Given the description of an element on the screen output the (x, y) to click on. 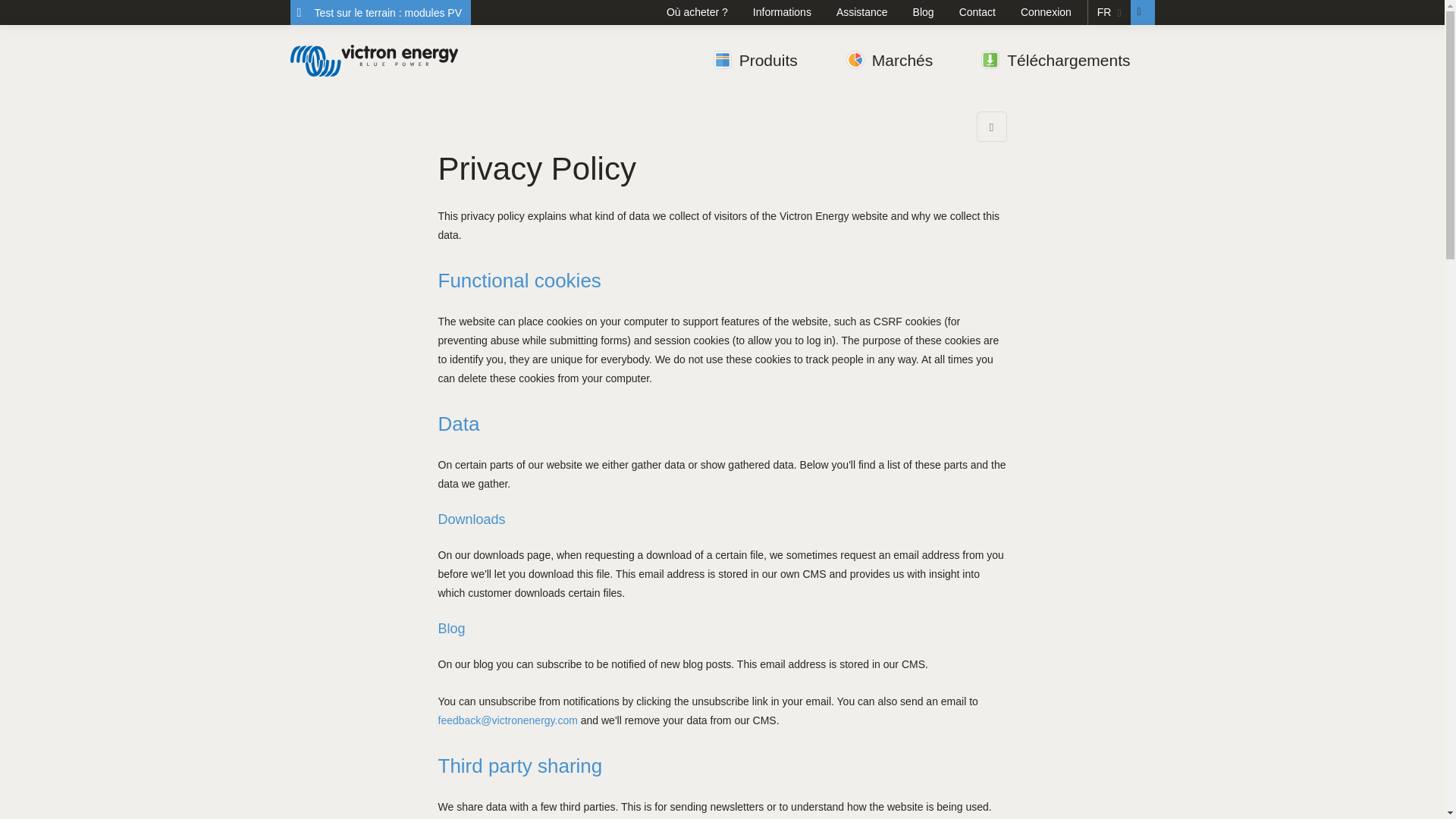
Assistance (865, 12)
Contact (980, 12)
Blog (927, 12)
